Given the description of an element on the screen output the (x, y) to click on. 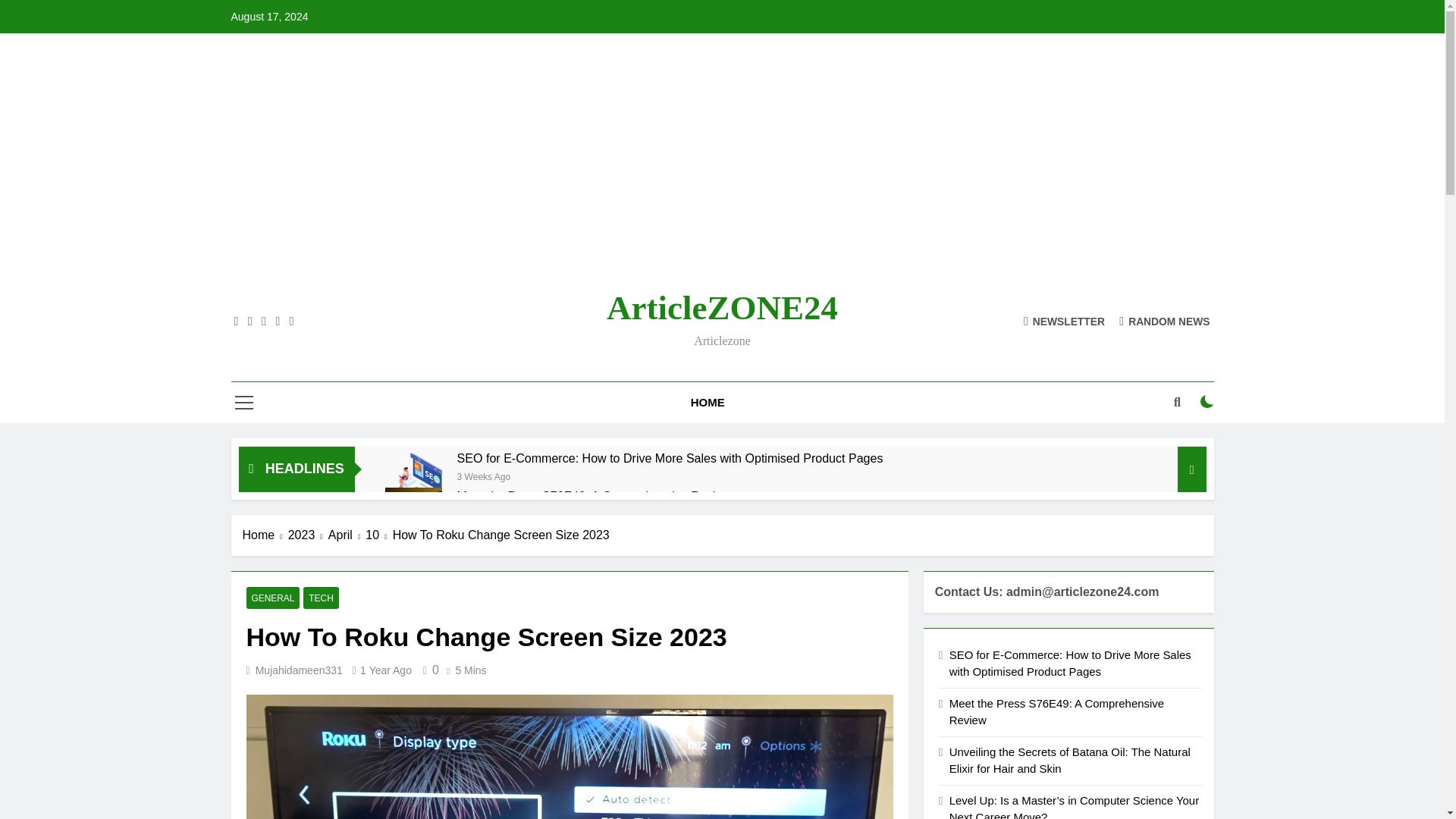
Meet the Press S76E49: A Comprehensive Review (413, 515)
HOME (707, 402)
Meet the Press S76E49: A Comprehensive Review (593, 495)
Meet the Press S76E49: A Comprehensive Review (593, 495)
3 Weeks Ago (484, 475)
NEWSLETTER (1064, 319)
2023 (308, 535)
Home (265, 535)
